Given the description of an element on the screen output the (x, y) to click on. 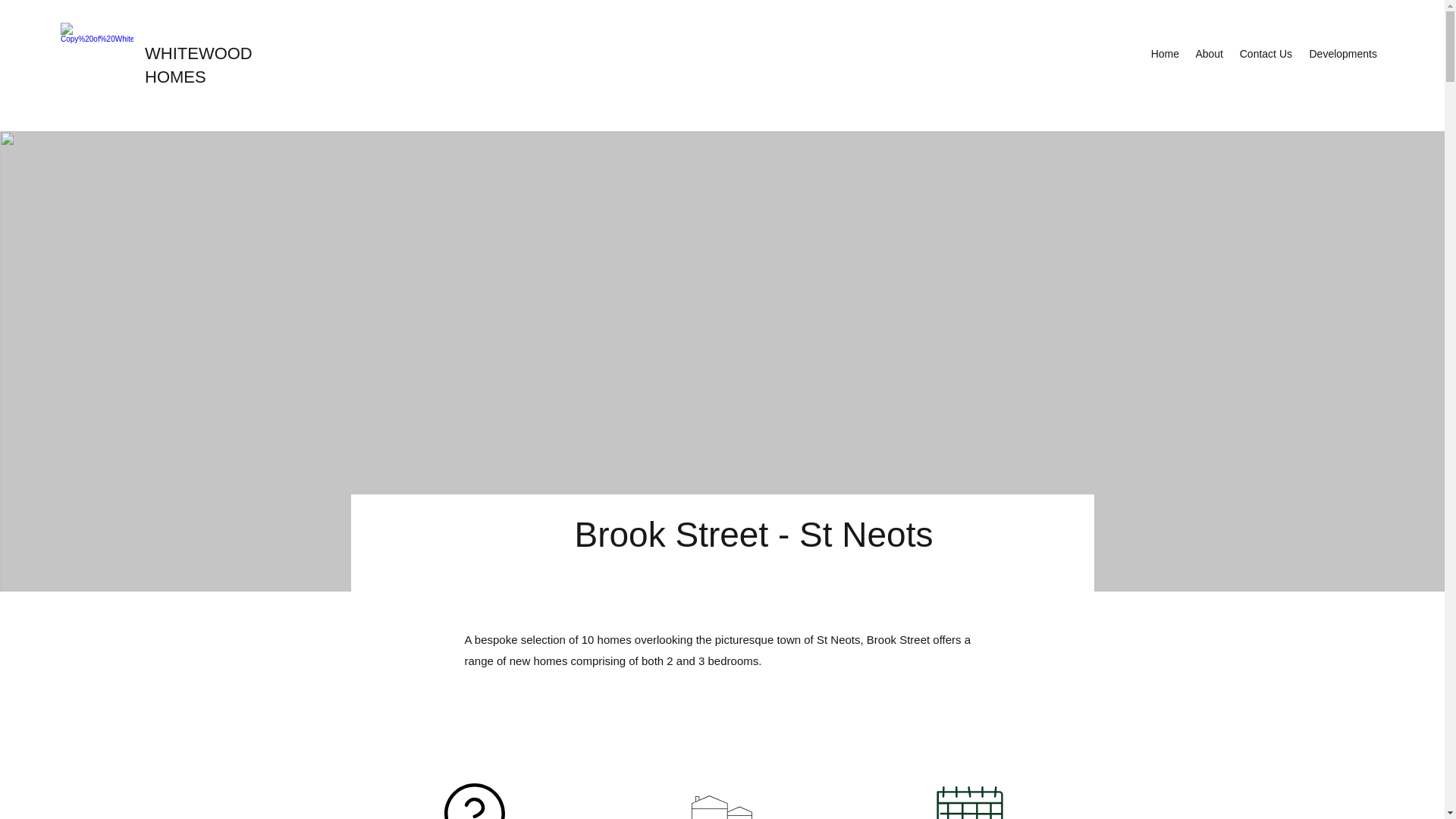
Developments (1342, 53)
Contact Us (1265, 53)
Home (1164, 53)
WHITEWOOD HOMES (197, 65)
About (1208, 53)
